Given the description of an element on the screen output the (x, y) to click on. 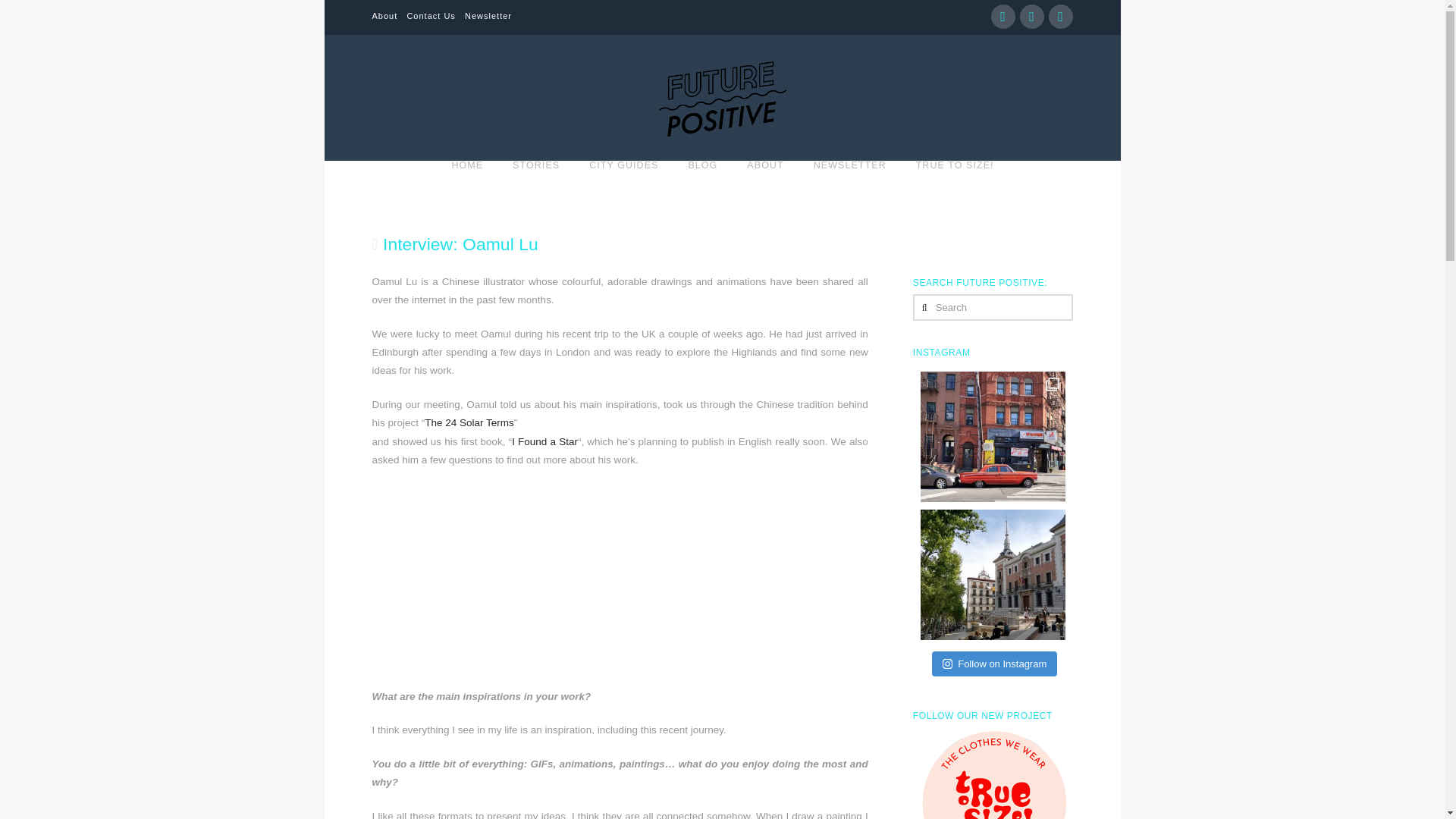
ABOUT (764, 184)
BLOG (702, 184)
About (384, 15)
Instagram (1059, 16)
TRUE TO SIZE! (955, 184)
HOME (466, 184)
I Found a Star (545, 441)
STORIES (535, 184)
Twitter (1031, 16)
The 24 Solar Terms (469, 422)
NEWSLETTER (849, 184)
Inspiring stories of creative businesses across the globe (721, 100)
CITY GUIDES (622, 184)
Newsletter (488, 15)
Facebook (1002, 16)
